Given the description of an element on the screen output the (x, y) to click on. 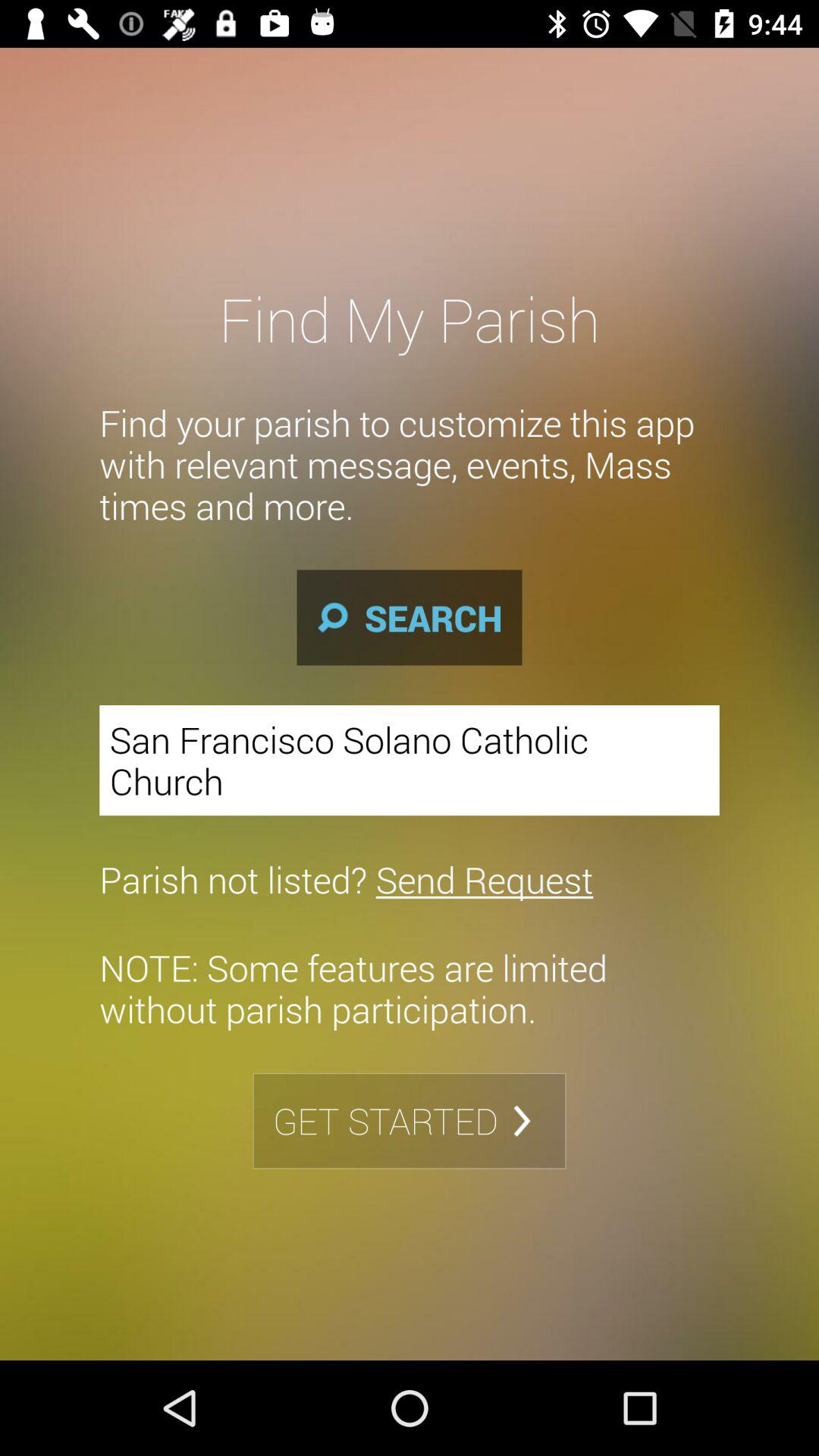
turn off the item below the search (409, 760)
